Given the description of an element on the screen output the (x, y) to click on. 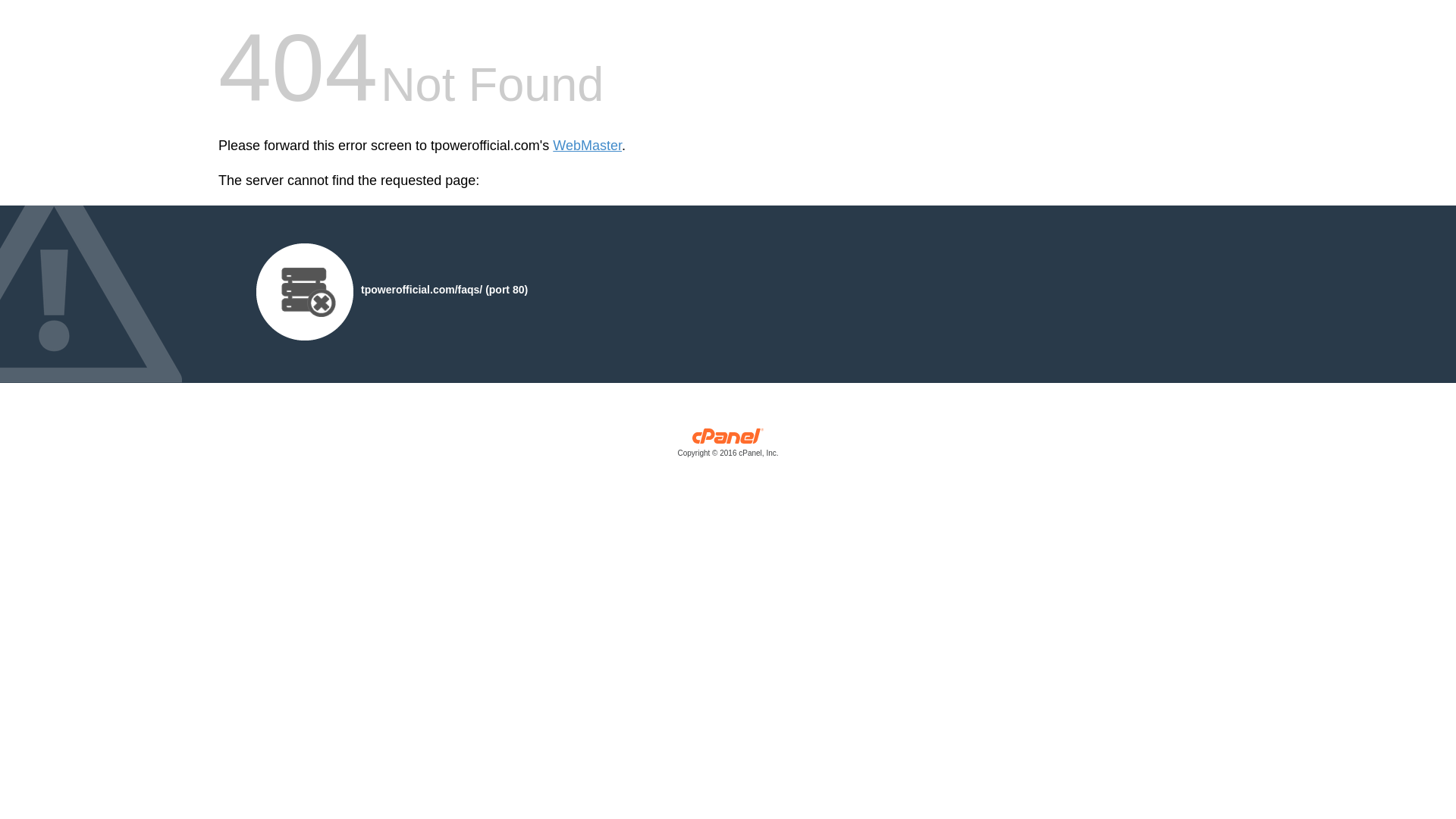
cPanel, Inc. (727, 446)
WebMaster (587, 145)
